Given the description of an element on the screen output the (x, y) to click on. 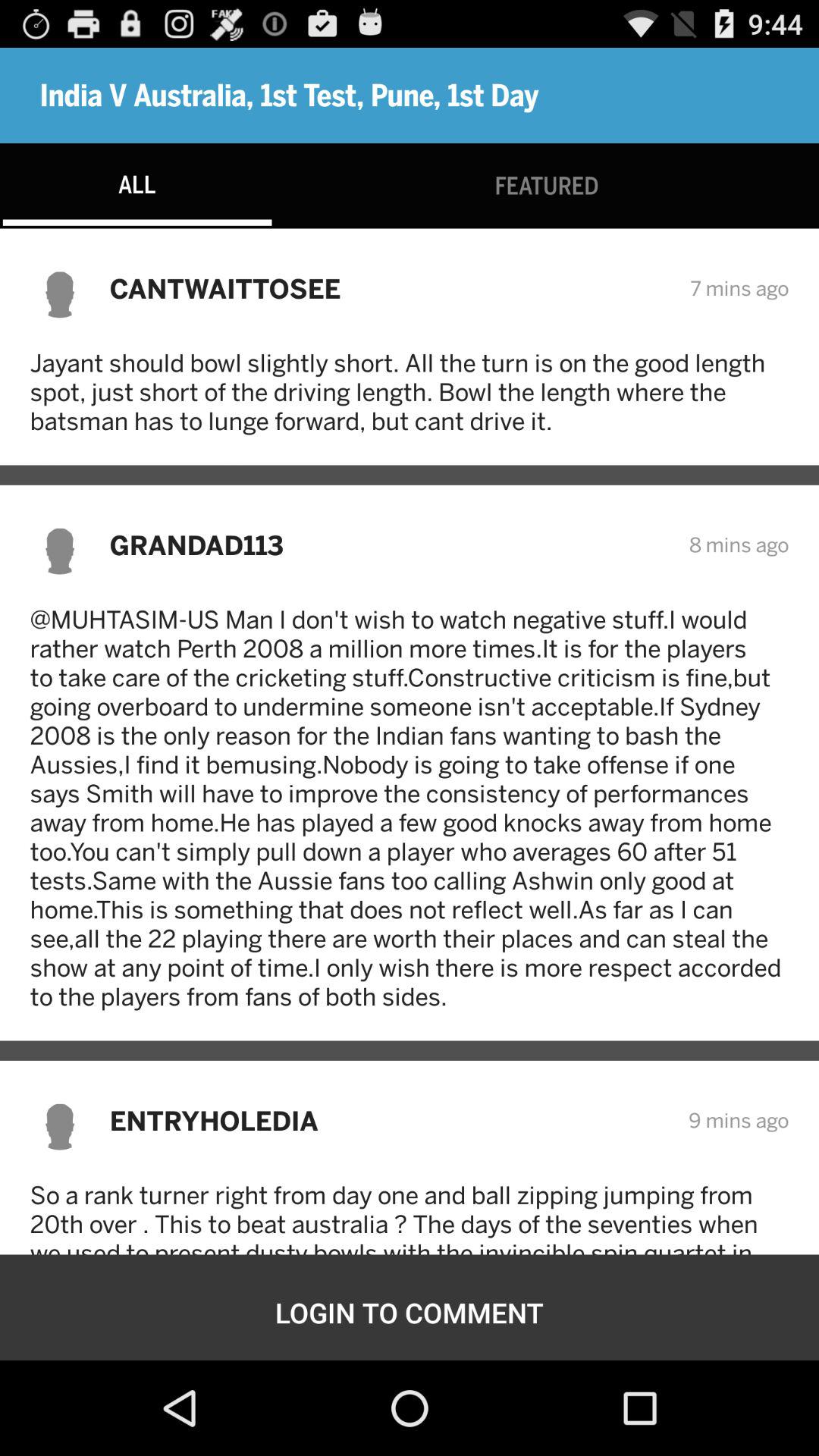
choose the icon to the left of the 9 mins ago (388, 1120)
